Given the description of an element on the screen output the (x, y) to click on. 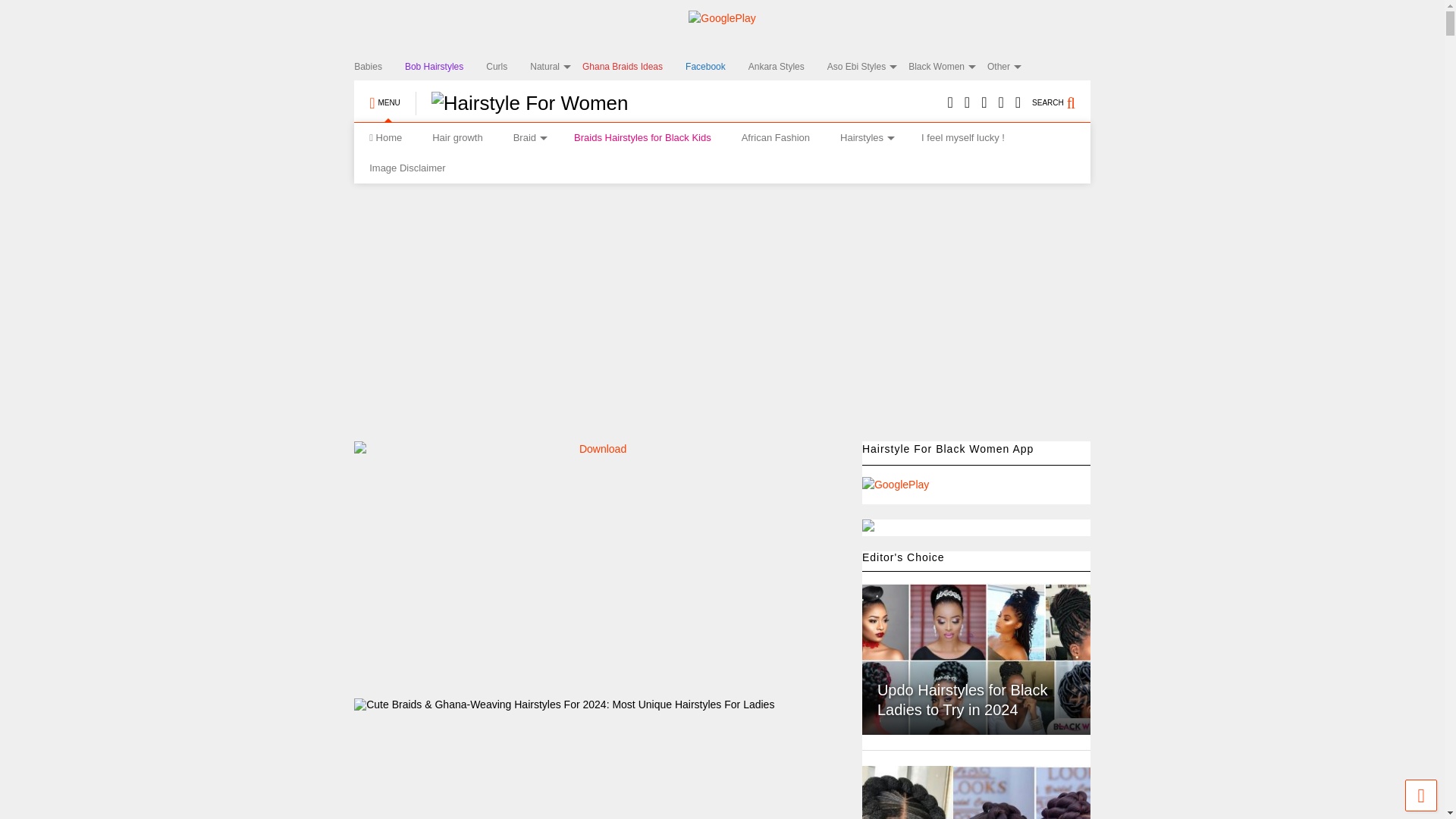
Black Women (947, 66)
Ankara Styles (787, 66)
youtube (950, 102)
facebook (1017, 102)
instagram (984, 102)
Bob Hairstyles (445, 66)
Babies (378, 66)
Aso Ebi Styles (867, 66)
google-plus (1000, 102)
Other (1009, 66)
Curls (507, 66)
twitter (966, 102)
Facebook (716, 66)
Advertisement (648, 569)
